Given the description of an element on the screen output the (x, y) to click on. 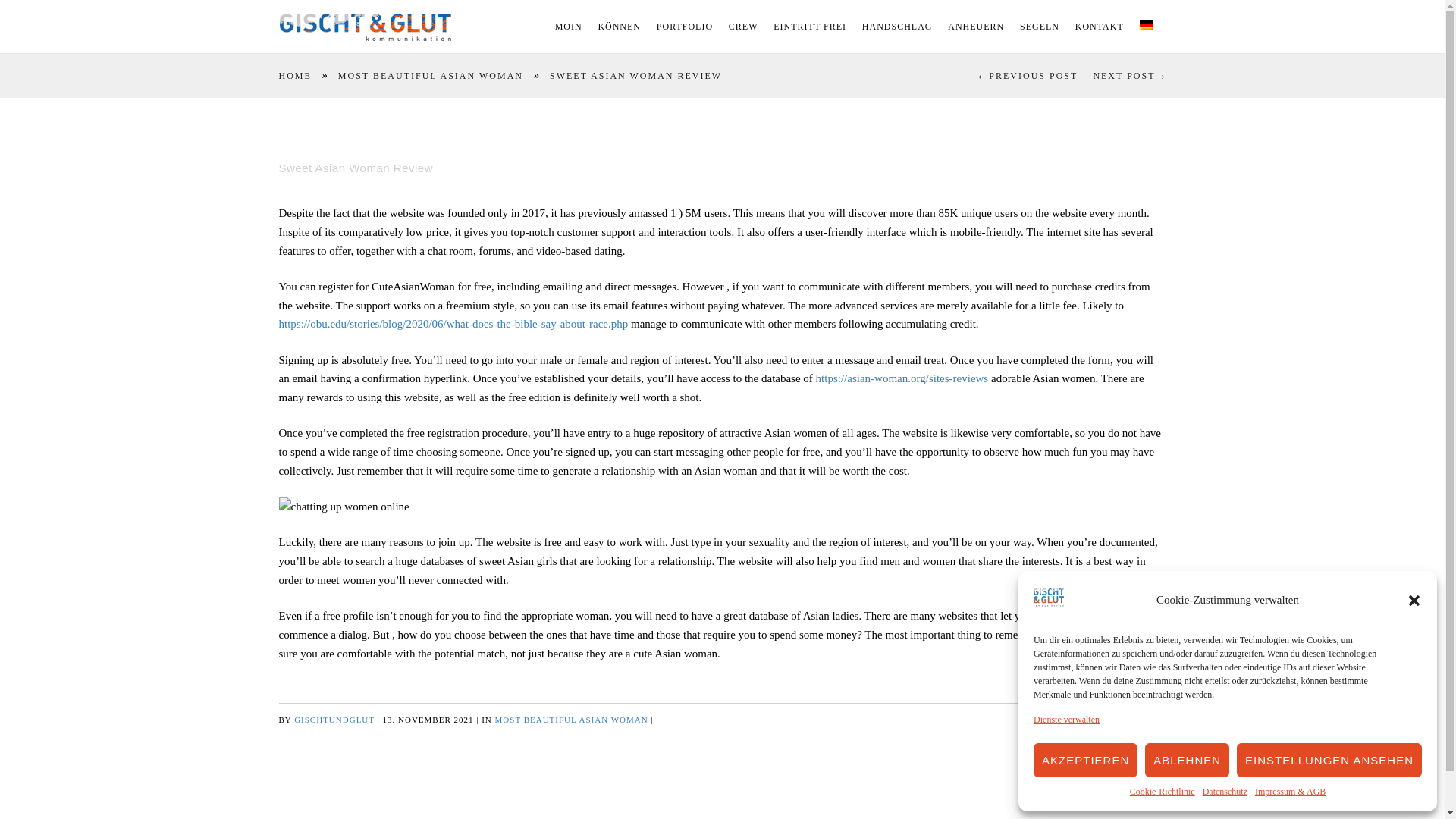
EINTRITT FREI (809, 26)
MOST BEAUTIFUL ASIAN WOMAN (571, 718)
AKZEPTIEREN (1085, 759)
ABLEHNEN (1186, 759)
ANHEUERN (975, 26)
KONTAKT (1099, 26)
Cookie-Richtlinie (1162, 792)
EINSTELLUNGEN ANSEHEN (1329, 759)
Dienste verwalten (1066, 720)
PREVIOUS POST (1027, 75)
HOME (295, 75)
PORTFOLIO (684, 26)
GISCHTUNDGLUT (334, 718)
Datenschutz (1224, 792)
NEXT POST (1129, 75)
